Given the description of an element on the screen output the (x, y) to click on. 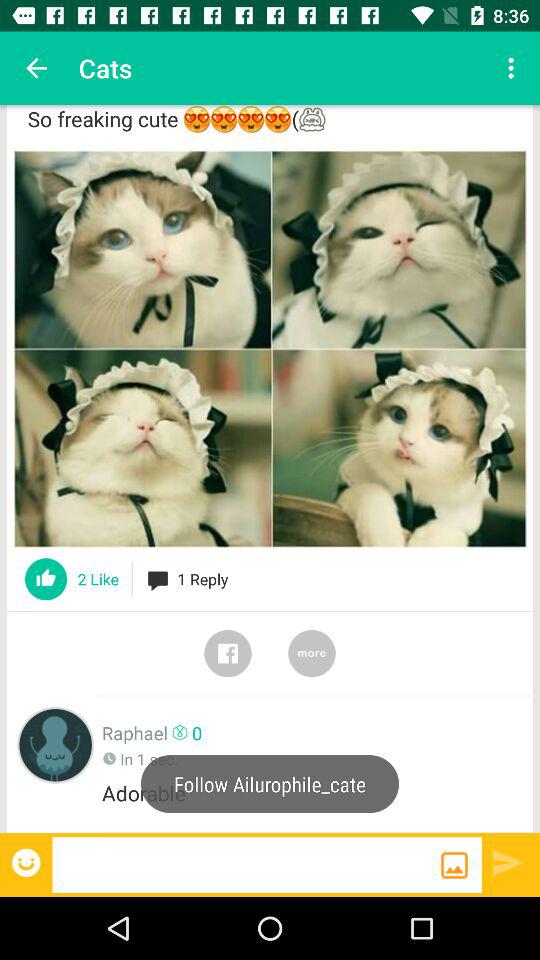
see the pictures (269, 348)
